Given the description of an element on the screen output the (x, y) to click on. 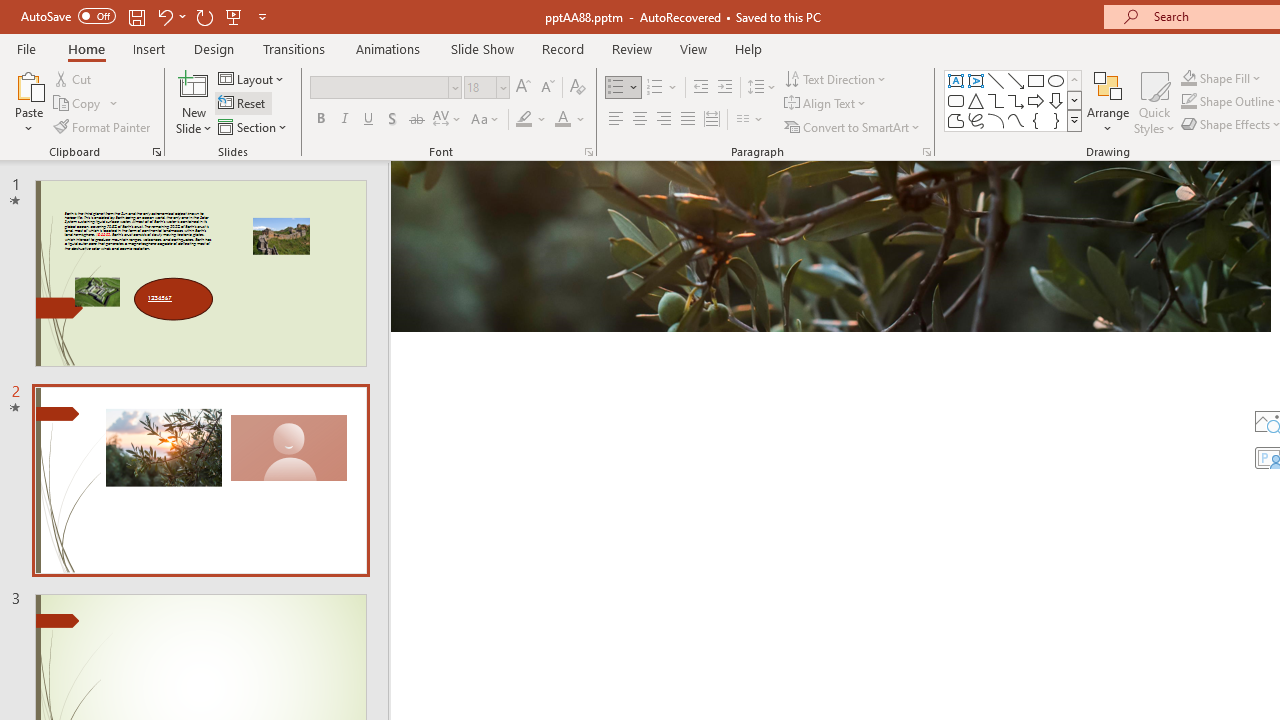
Shape Fill Aqua, Accent 2 (1188, 78)
